Given the description of an element on the screen output the (x, y) to click on. 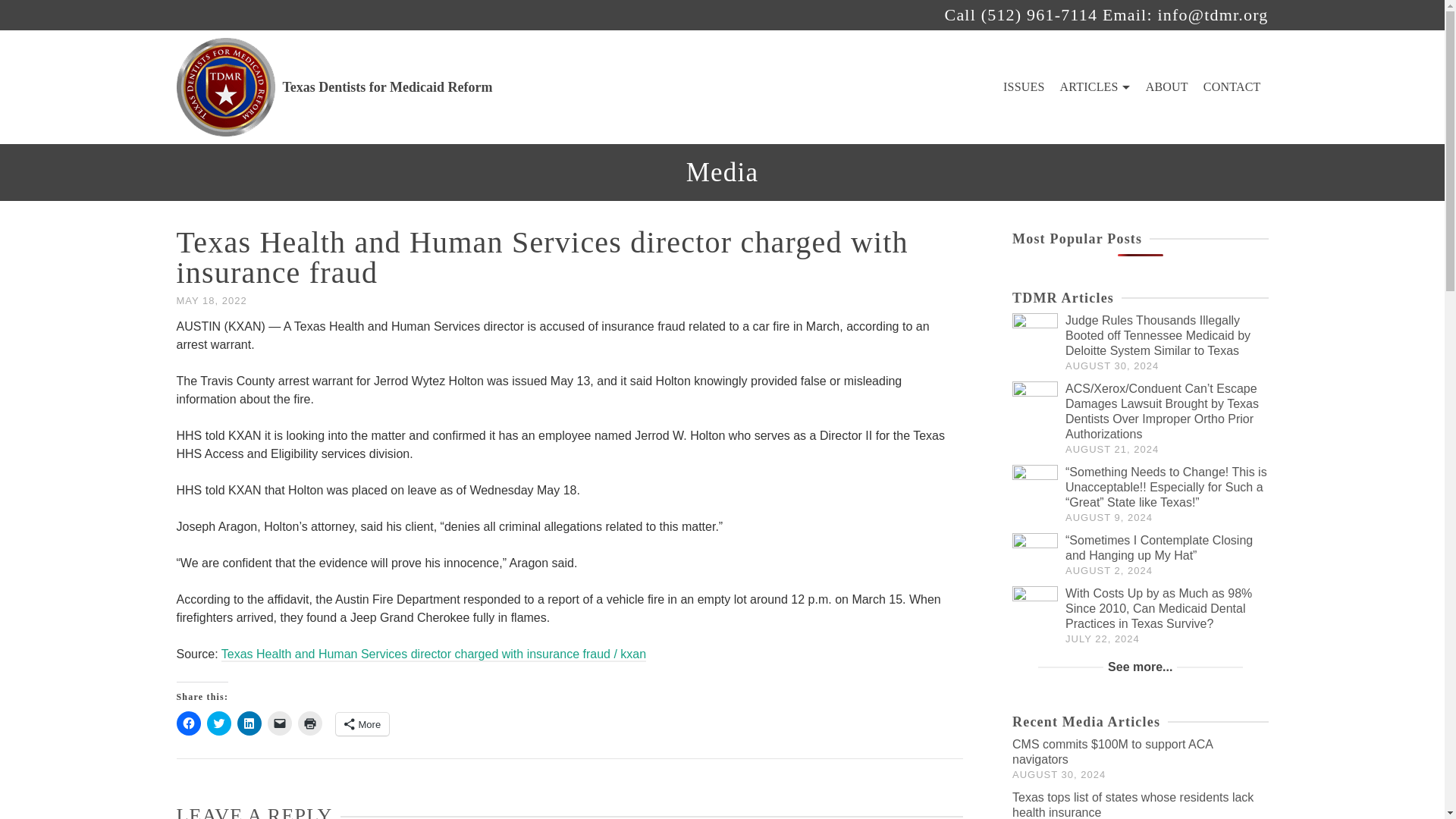
ISSUES (1023, 87)
Click to share on Facebook (188, 723)
Click to print (309, 723)
Click to share on LinkedIn (247, 723)
Texas Dentists for Medicaid Reform (334, 87)
Click to share on Twitter (218, 723)
ARTICLES (1095, 87)
Click to email a link to a friend (278, 723)
